Given the description of an element on the screen output the (x, y) to click on. 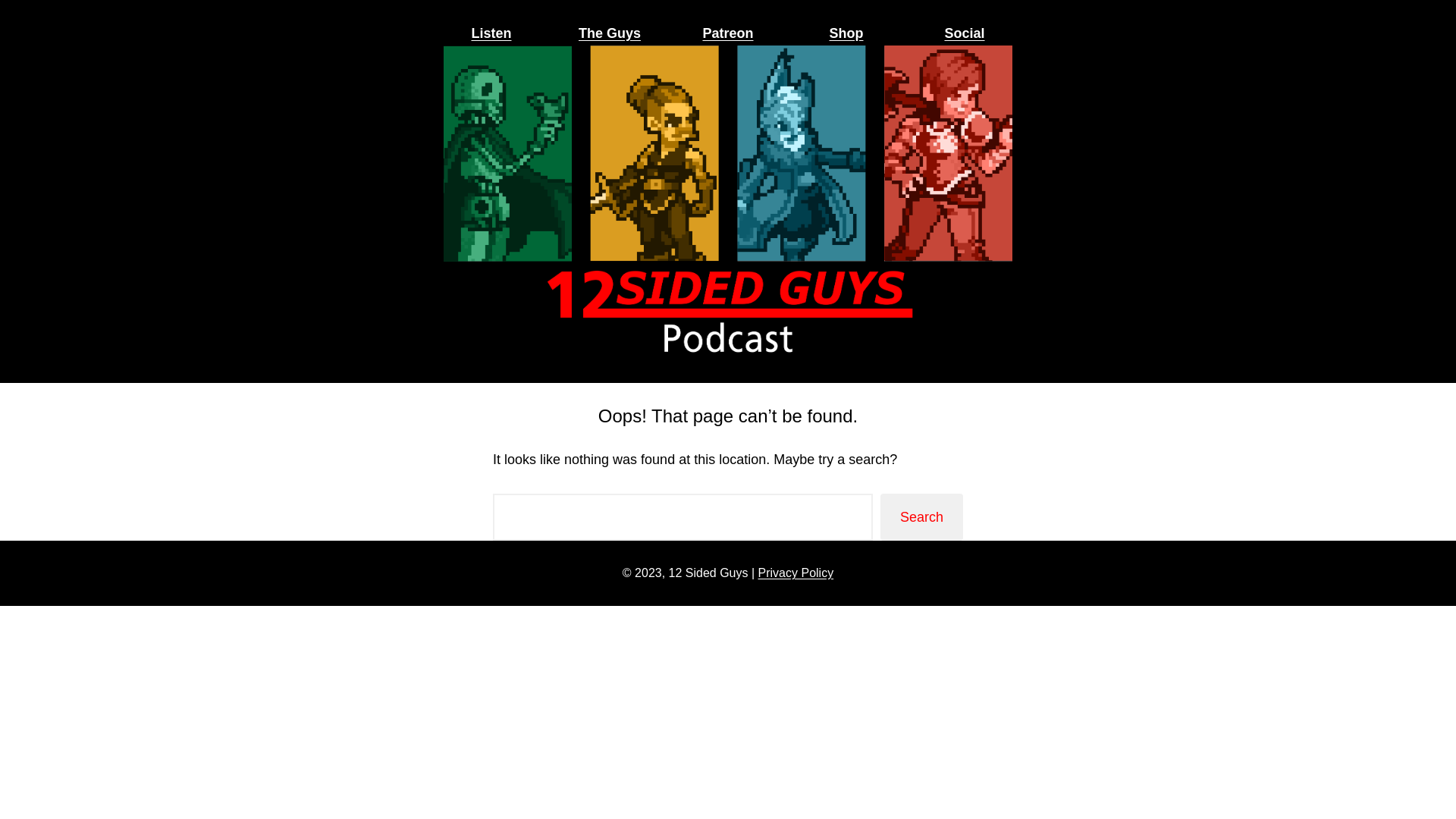
Shop Element type: text (846, 32)
Listen Element type: text (490, 32)
Search Element type: text (921, 517)
Patreon Element type: text (727, 32)
Privacy Policy Element type: text (796, 572)
The Guys Element type: text (609, 32)
Social Element type: text (964, 32)
